Given the description of an element on the screen output the (x, y) to click on. 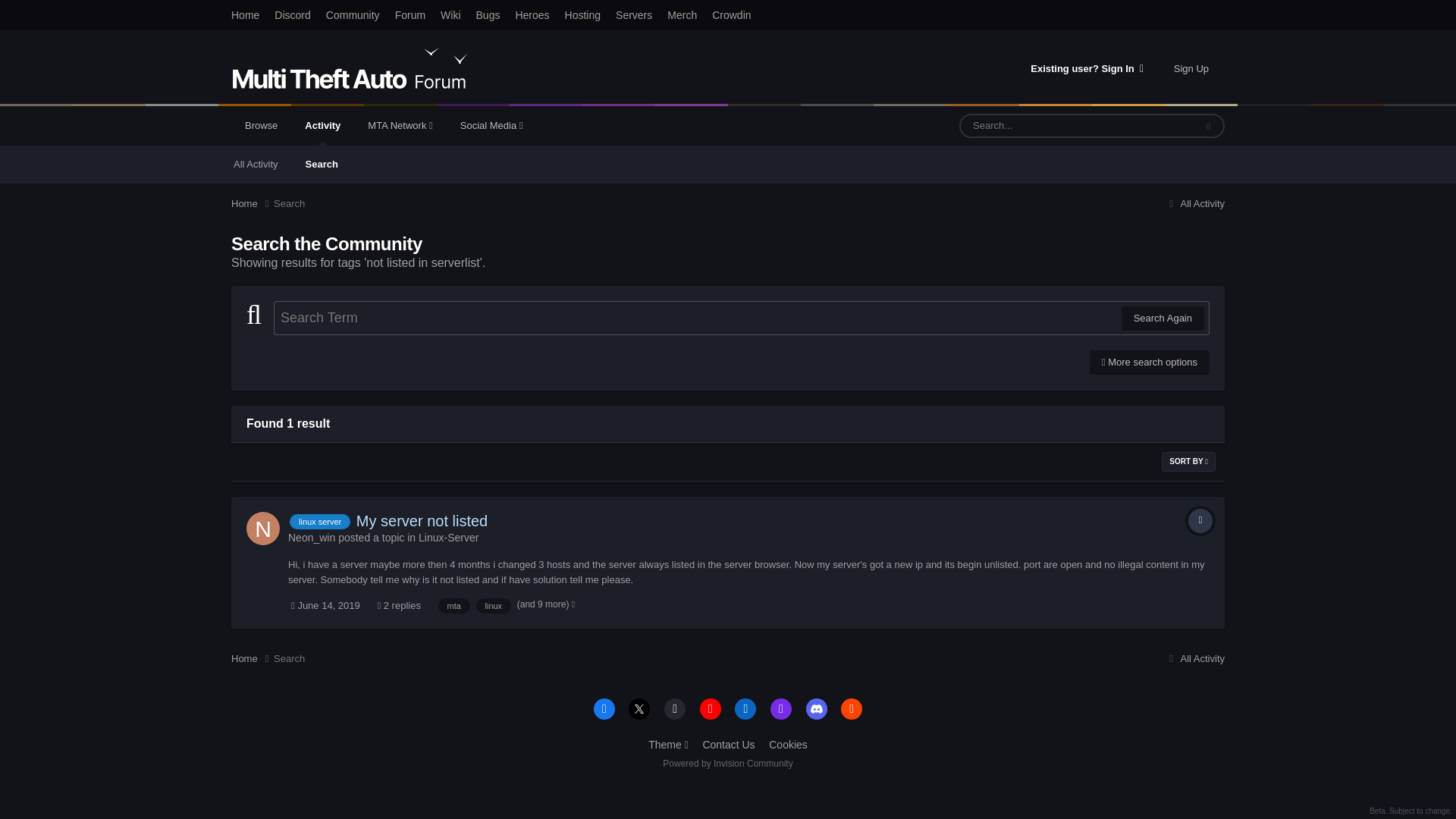
All Activity (255, 164)
Find other content tagged with 'linux server' (319, 521)
Merch (681, 14)
Forum (409, 14)
Home (245, 14)
Activity (322, 125)
Hosting (582, 14)
Browse (261, 125)
Topic (1200, 520)
Community (352, 14)
Bugs (488, 14)
Heroes (531, 14)
Find other content tagged with 'mta' (454, 605)
Wiki (449, 14)
Search (322, 164)
